Given the description of an element on the screen output the (x, y) to click on. 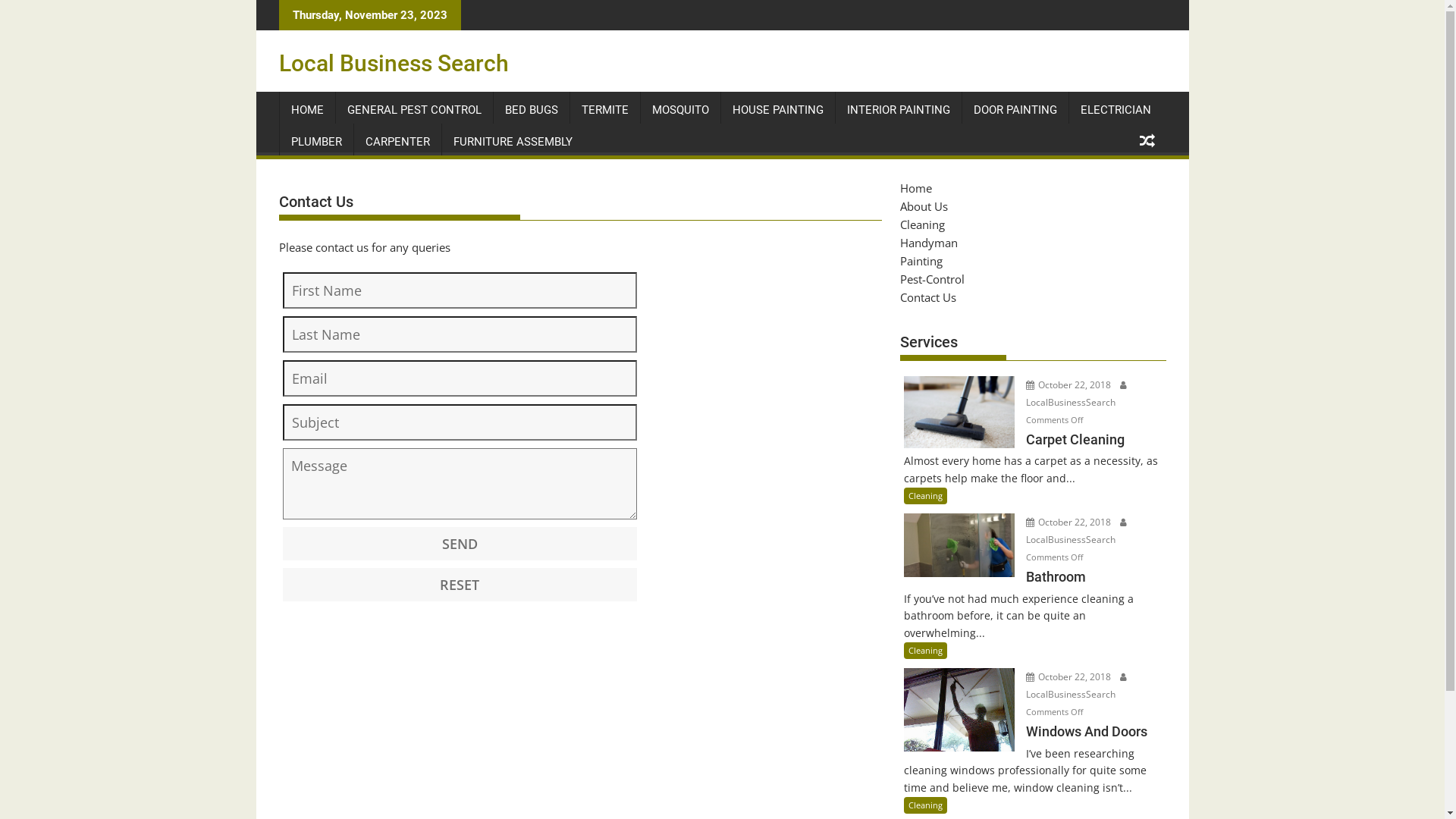
About Us Element type: text (923, 205)
LocalBusinessSearch Element type: text (1077, 685)
MOSQUITO Element type: text (679, 109)
Handyman Element type: text (928, 242)
LocalBusinessSearch Element type: text (1077, 392)
Send Element type: text (459, 542)
PLUMBER Element type: text (315, 141)
Cleaning Element type: text (925, 495)
Carpet Cleaning Element type: text (1032, 449)
DOOR PAINTING Element type: text (1014, 109)
Pest-Control Element type: text (931, 278)
ELECTRICIAN Element type: text (1115, 109)
Windows And Doors Element type: text (1032, 741)
Cleaning Element type: text (921, 224)
TERMITE Element type: text (605, 109)
INTERIOR PAINTING Element type: text (898, 109)
BED BUGS Element type: text (530, 109)
LocalBusinessSearch Element type: text (1077, 530)
Painting Element type: text (920, 260)
Local Business Search Element type: text (393, 63)
Home Element type: text (915, 187)
October 22, 2018 Element type: text (1069, 383)
HOUSE PAINTING Element type: text (777, 109)
October 22, 2018 Element type: text (1069, 521)
Skip to content Element type: text (256, 0)
CARPENTER Element type: text (396, 141)
FURNITURE ASSEMBLY Element type: text (512, 141)
Contact Us Element type: text (927, 296)
Cleaning Element type: text (925, 805)
Bathroom Element type: text (1032, 587)
October 22, 2018 Element type: text (1069, 676)
HOME Element type: text (306, 109)
GENERAL PEST CONTROL Element type: text (413, 109)
Cleaning Element type: text (925, 650)
